Given the description of an element on the screen output the (x, y) to click on. 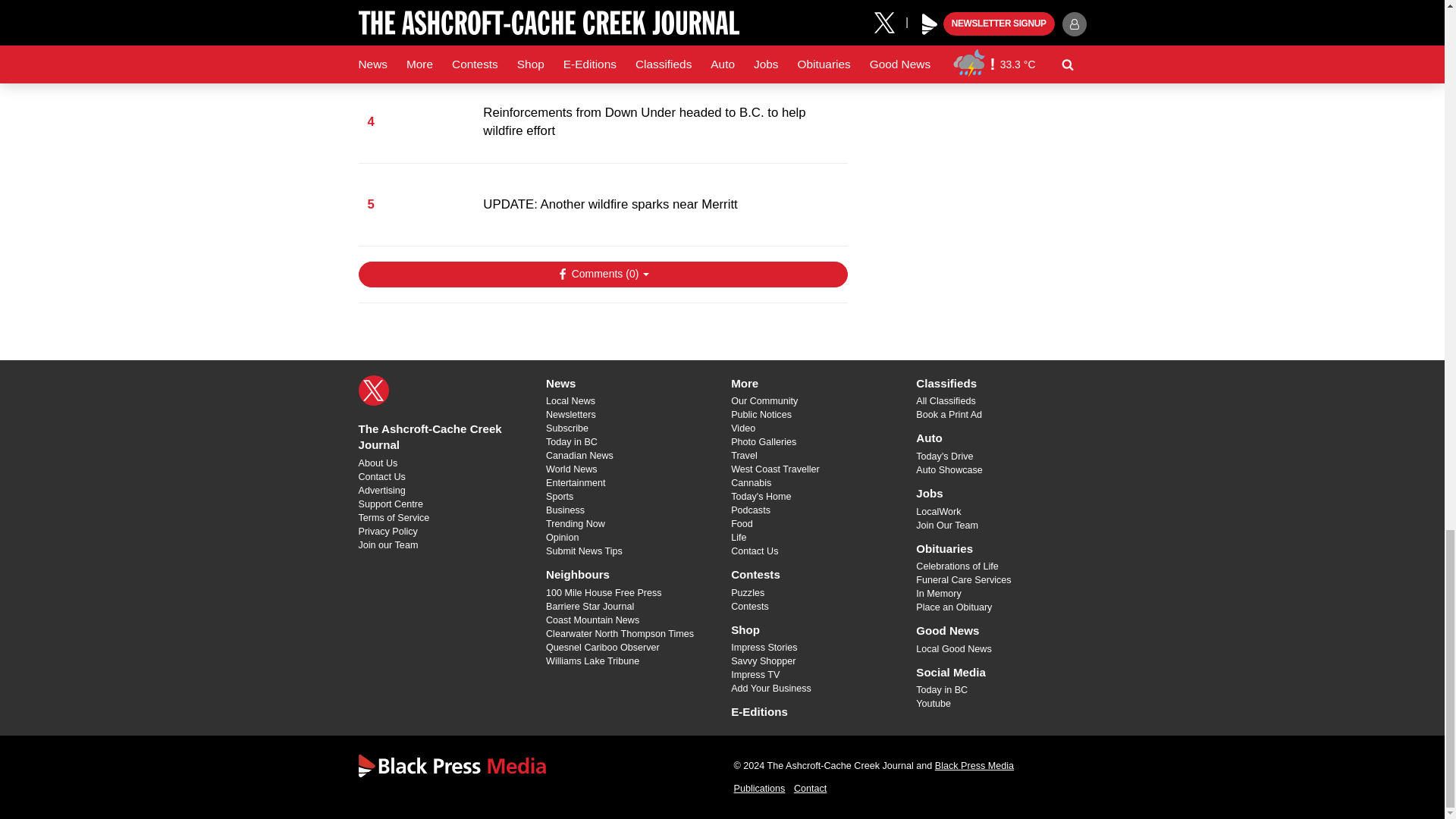
X (373, 390)
Show Comments (602, 274)
